Given the description of an element on the screen output the (x, y) to click on. 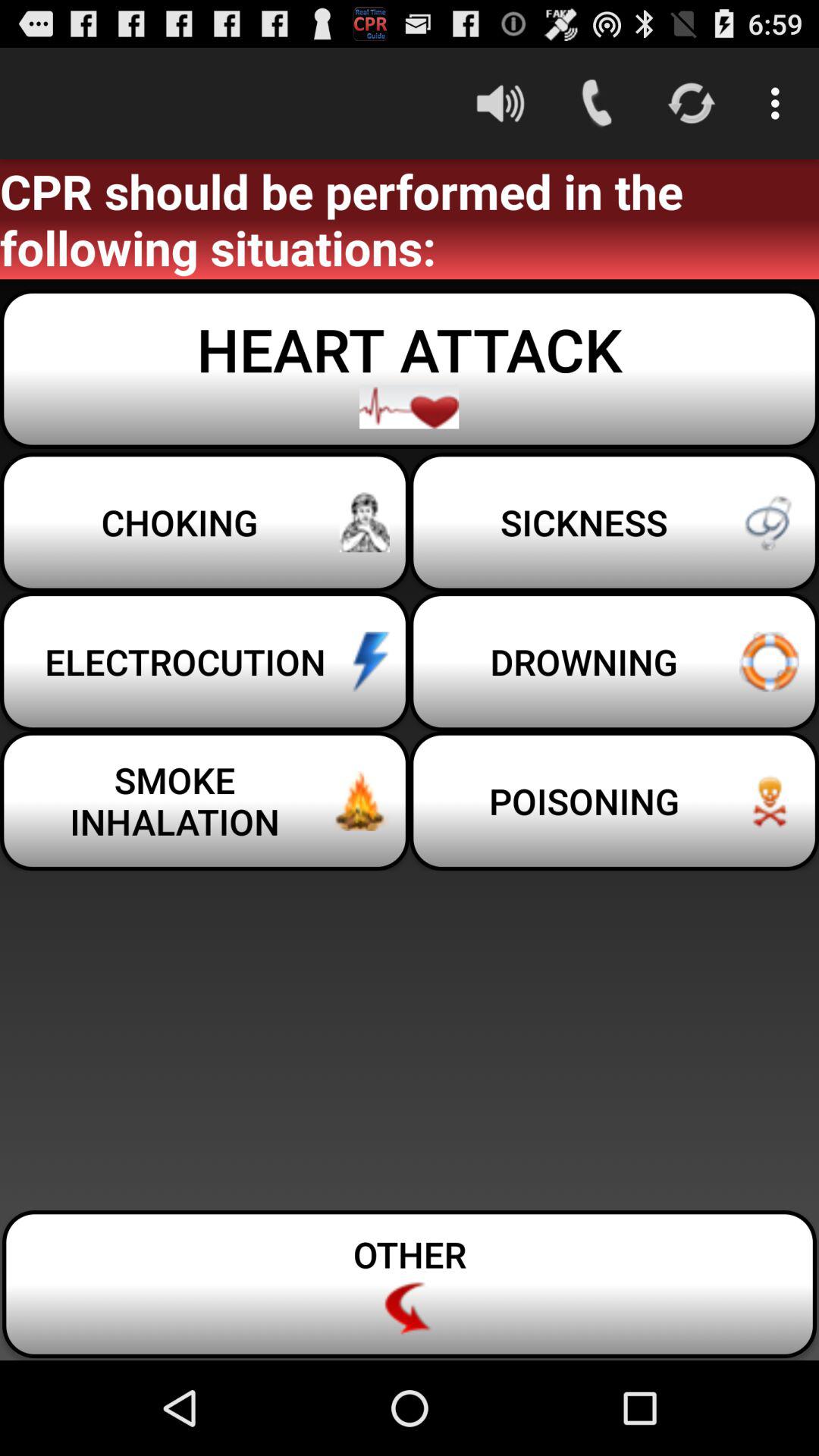
choose the button to the right of the choking button (614, 661)
